Given the description of an element on the screen output the (x, y) to click on. 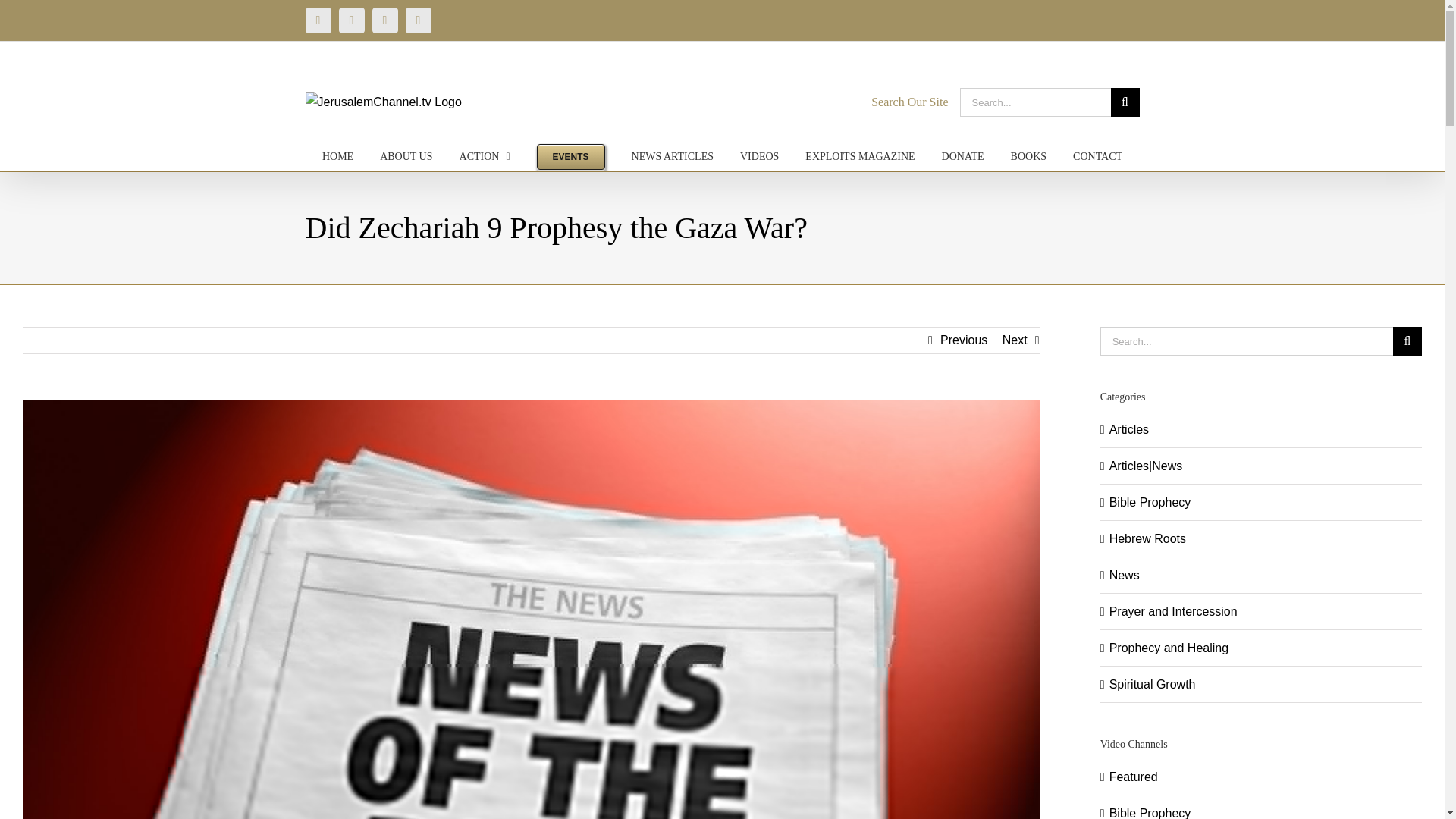
VIDEOS (758, 155)
Next (1015, 339)
ABOUT US (406, 155)
YouTube (317, 20)
Vimeo (384, 20)
Previous (963, 339)
X (417, 20)
NEWS ARTICLES (672, 155)
EXPLOITS MAGAZINE (859, 155)
DONATE (963, 155)
X (417, 20)
Vimeo (384, 20)
EVENTS (571, 155)
